Given the description of an element on the screen output the (x, y) to click on. 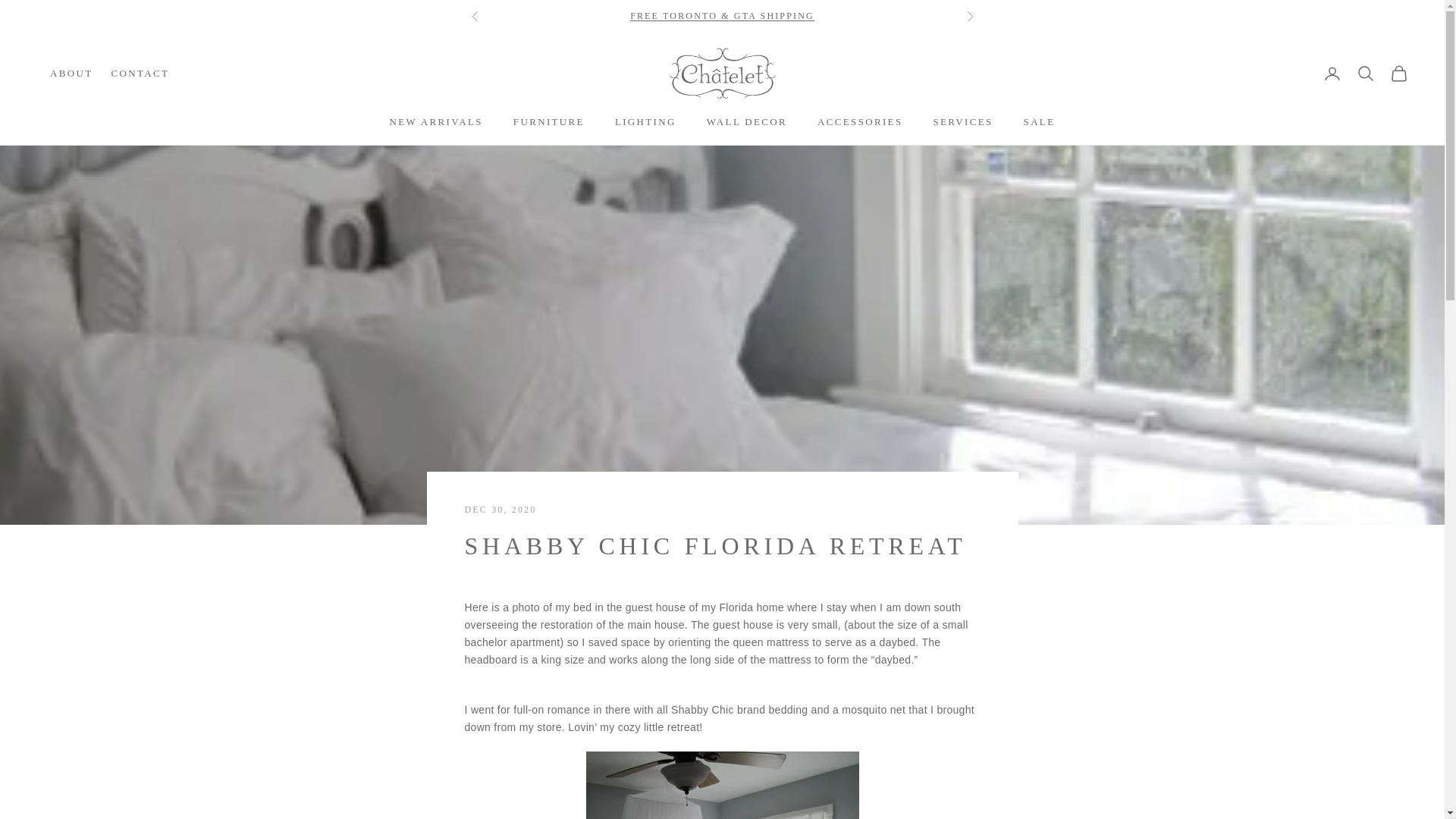
NEW ARRIVALS (436, 121)
Previous (474, 16)
Chatelet-Home (721, 73)
Next (968, 16)
